Given the description of an element on the screen output the (x, y) to click on. 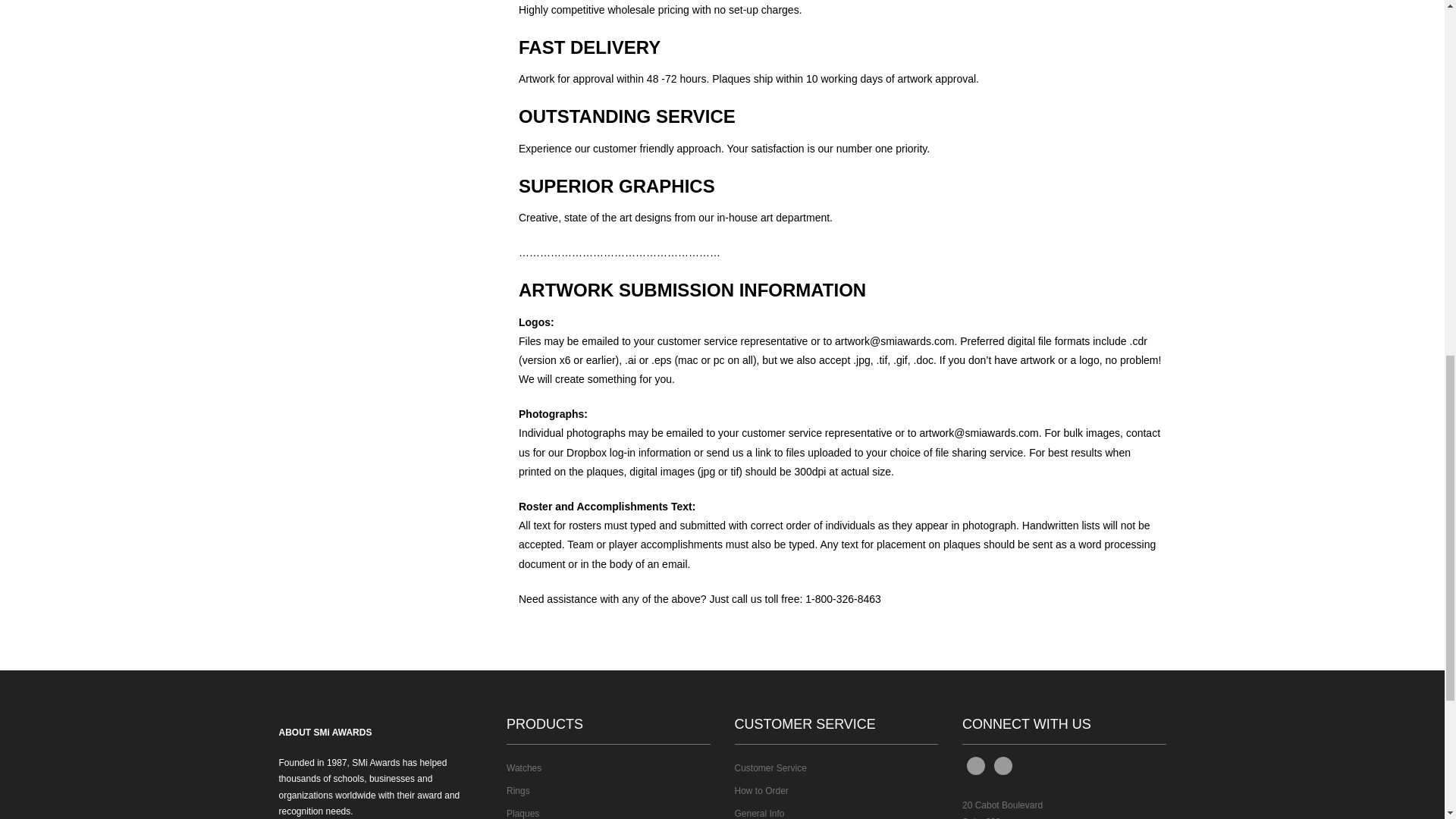
Rings (517, 790)
Plaques (522, 813)
Watches (523, 767)
